Given the description of an element on the screen output the (x, y) to click on. 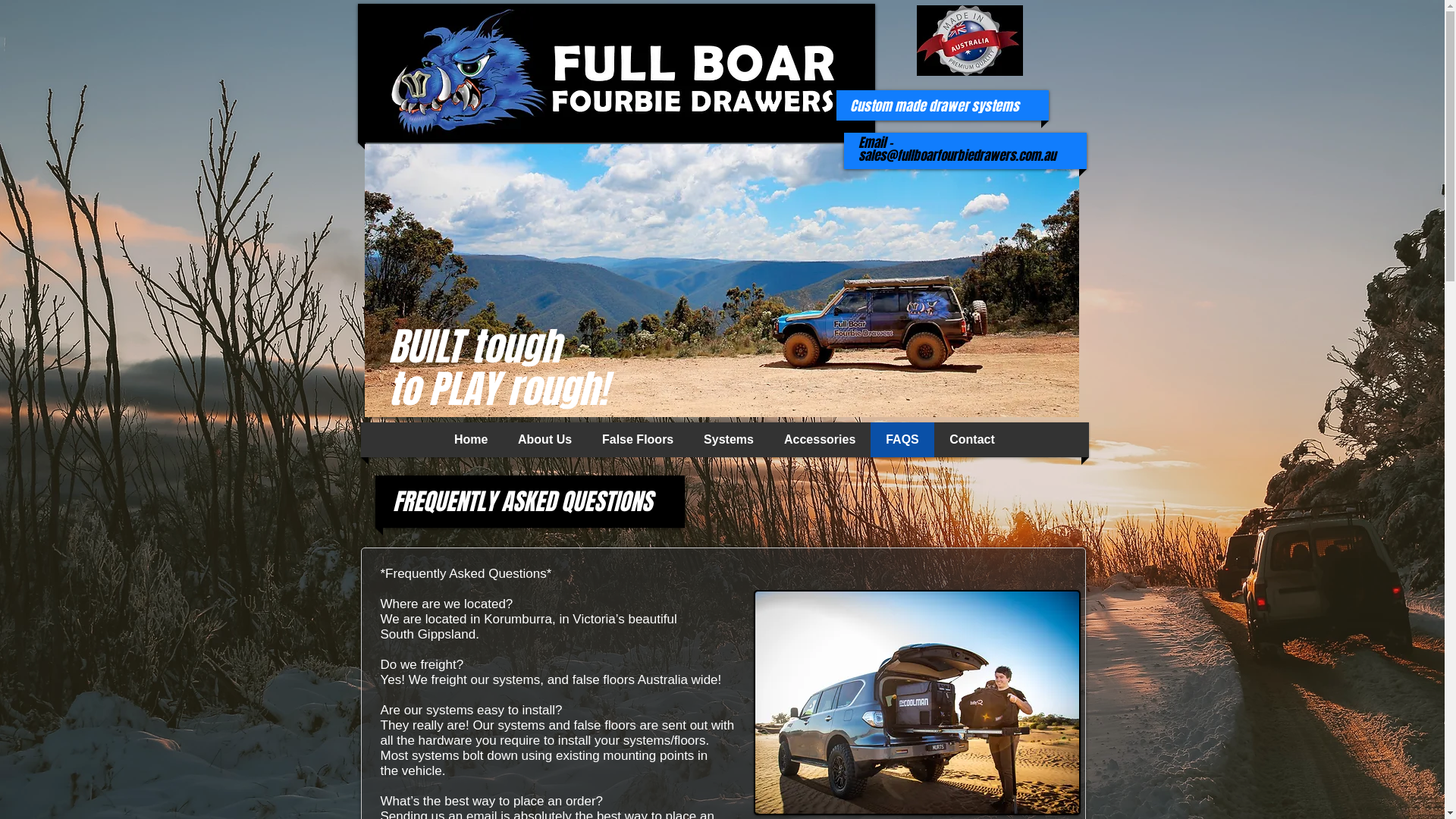
Systems Element type: text (728, 439)
False Floors Element type: text (637, 439)
Home Element type: text (470, 439)
Accessories Element type: text (819, 439)
About Us Element type: text (544, 439)
Contact Element type: text (972, 439)
Facebook Like Element type: hover (984, 401)
sales@fullboarfourbiedrawers.com.au Element type: text (956, 155)
IMG_4253 copy.jpg Element type: hover (721, 280)
FAQS Element type: text (902, 439)
